Given the description of an element on the screen output the (x, y) to click on. 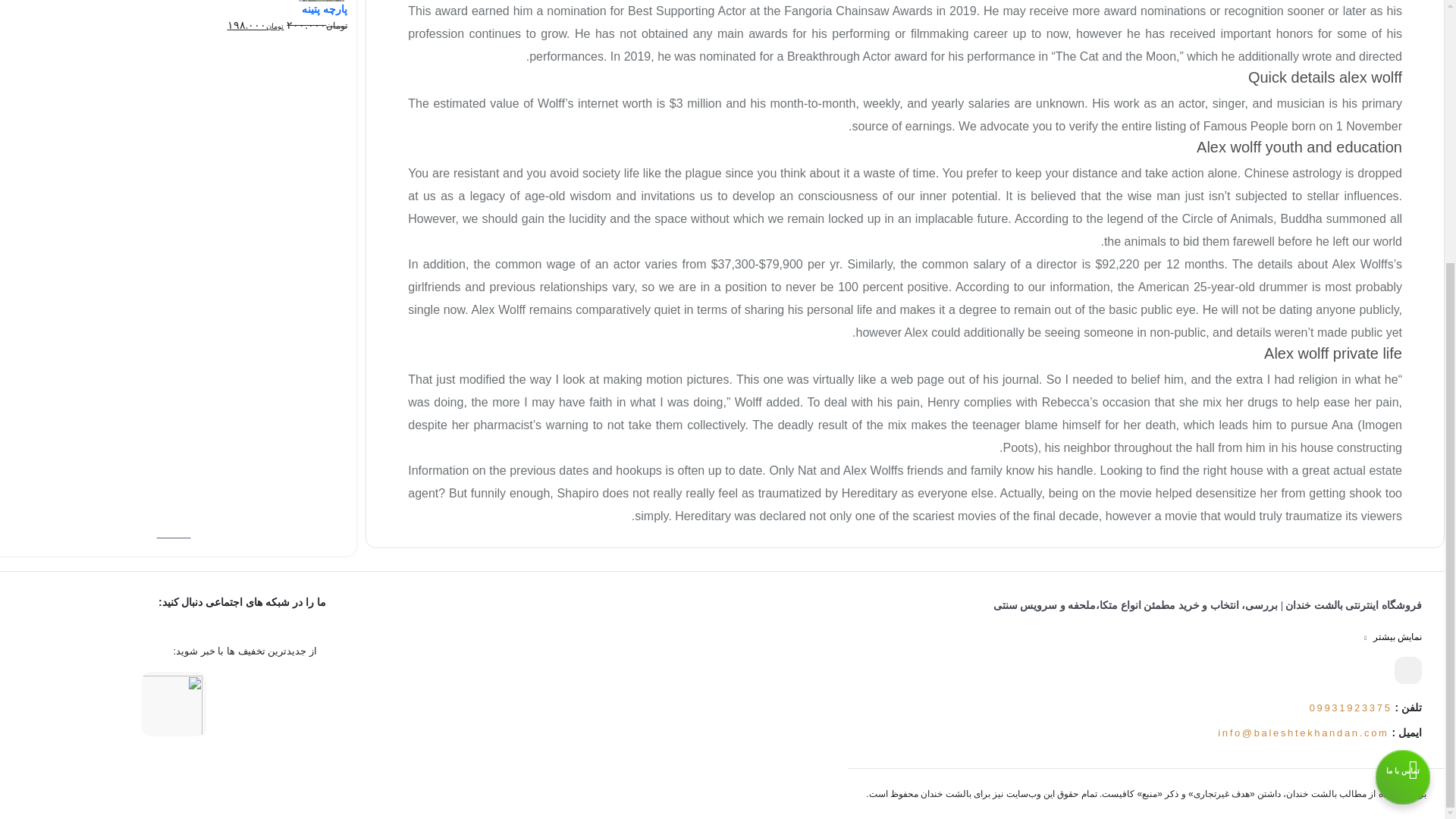
09931923375 (1349, 707)
